Given the description of an element on the screen output the (x, y) to click on. 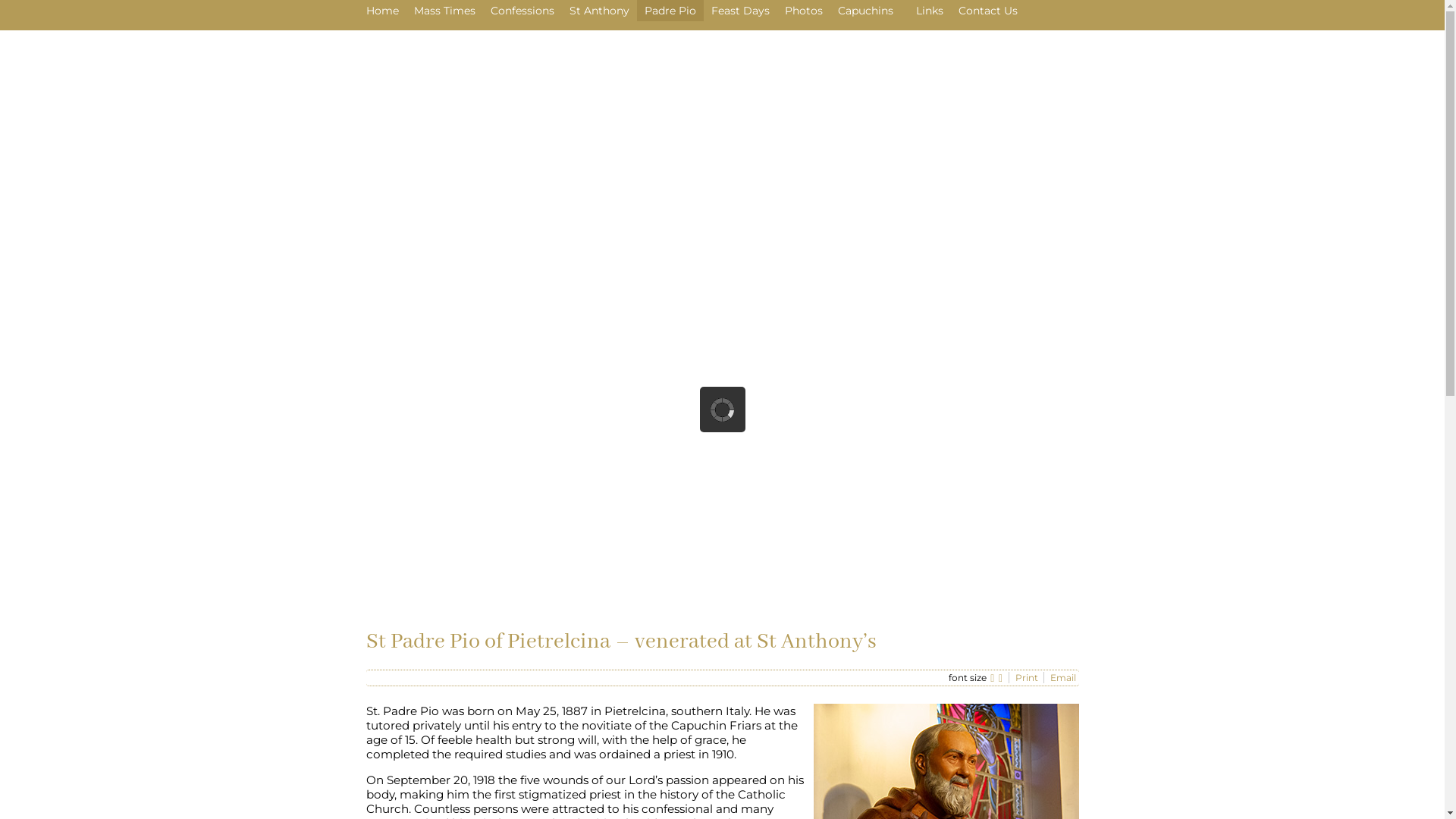
Feast Days Element type: text (740, 10)
Home Element type: text (381, 10)
Confessions Element type: text (521, 10)
St Anthony Element type: text (598, 10)
Photos Element type: text (802, 10)
Mass Times Element type: text (444, 10)
Links Element type: text (929, 10)
Padre Pio Element type: text (670, 10)
Contact Us Element type: text (987, 10)
Print Element type: text (1026, 677)
Email Element type: text (1062, 677)
